Given the description of an element on the screen output the (x, y) to click on. 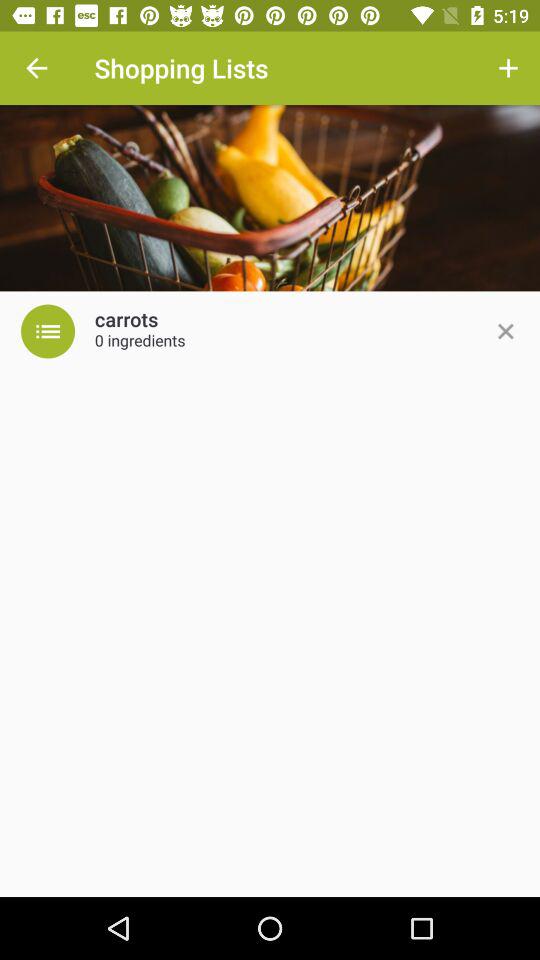
click item below the carrots (139, 342)
